Given the description of an element on the screen output the (x, y) to click on. 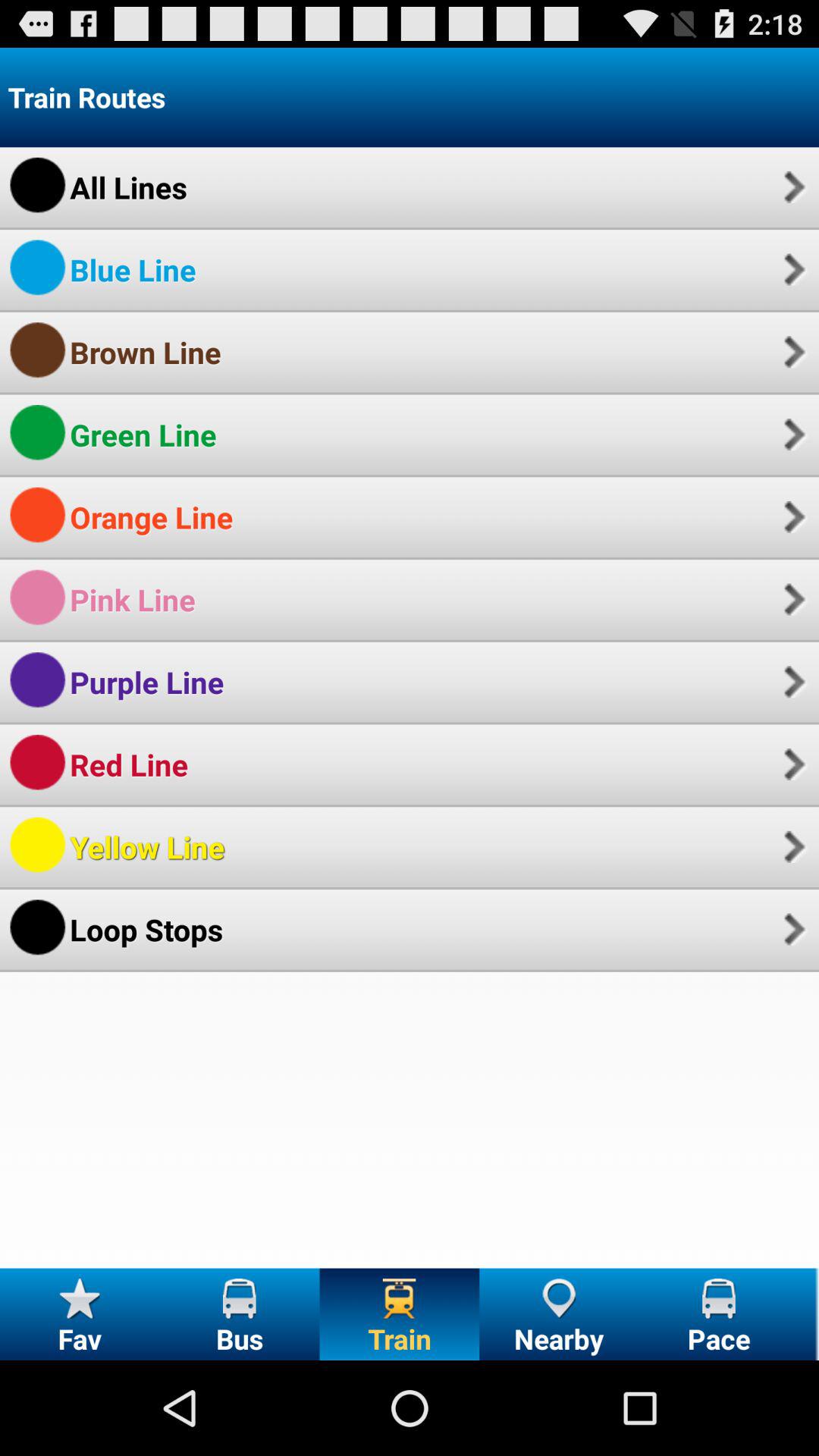
turn off the app to the right of red line icon (792, 764)
